Given the description of an element on the screen output the (x, y) to click on. 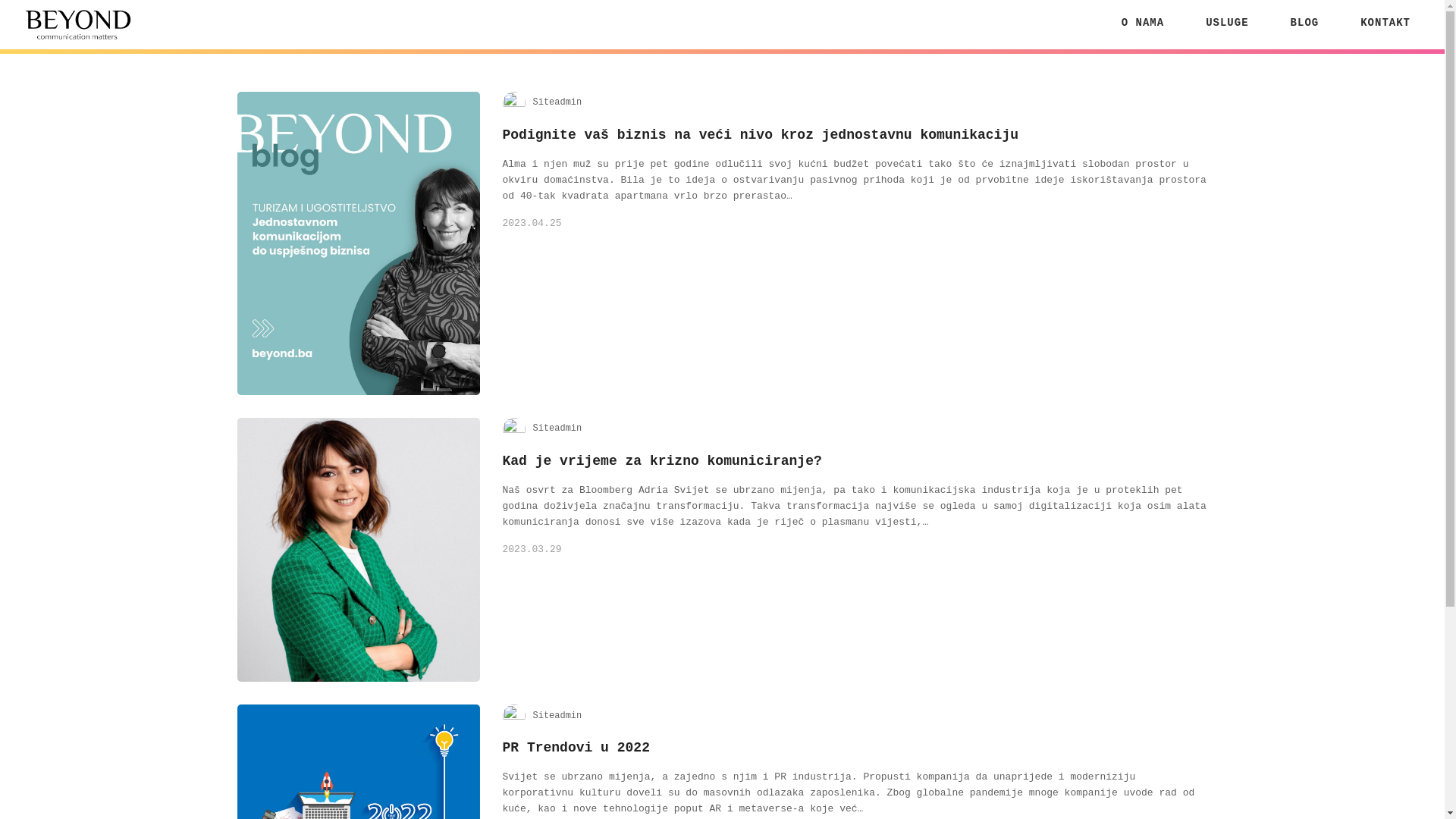
USLUGE Element type: text (1226, 22)
BLOG Element type: text (1304, 22)
KONTAKT Element type: text (1385, 22)
Siteadmin Element type: text (556, 715)
Siteadmin Element type: text (556, 102)
Kad je vrijeme za krizno komuniciranje? Element type: text (661, 460)
O NAMA Element type: text (1142, 22)
PR Trendovi u 2022 Element type: text (575, 747)
Siteadmin Element type: text (556, 428)
